Given the description of an element on the screen output the (x, y) to click on. 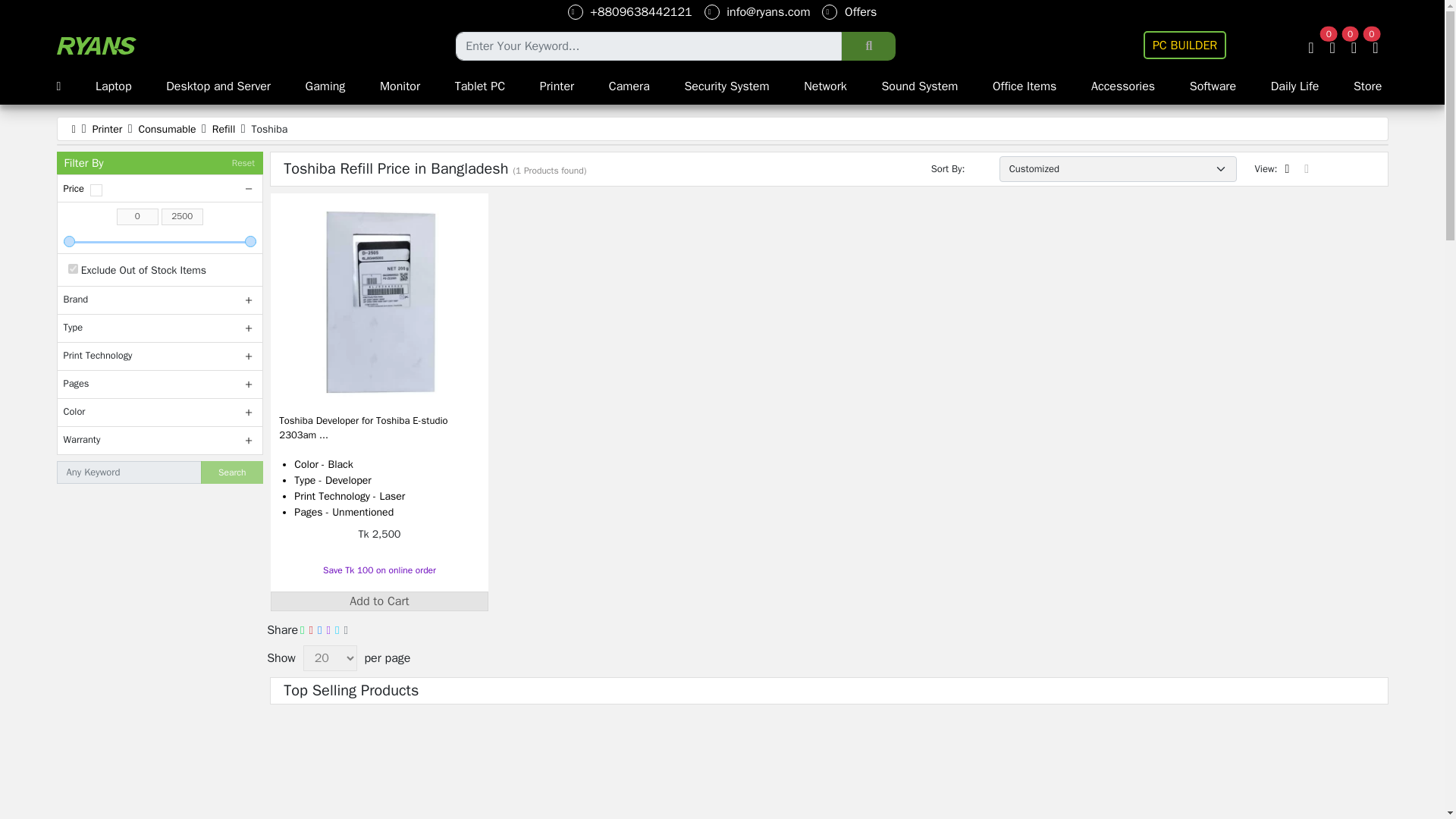
Laptop (113, 86)
on (94, 190)
PC BUILDER (1183, 44)
1 (73, 268)
Discount on Special Price for Ecommerce order only (379, 570)
Reset (243, 163)
0 (137, 216)
2500 (182, 216)
0 (160, 241)
2500 (160, 241)
